Given the description of an element on the screen output the (x, y) to click on. 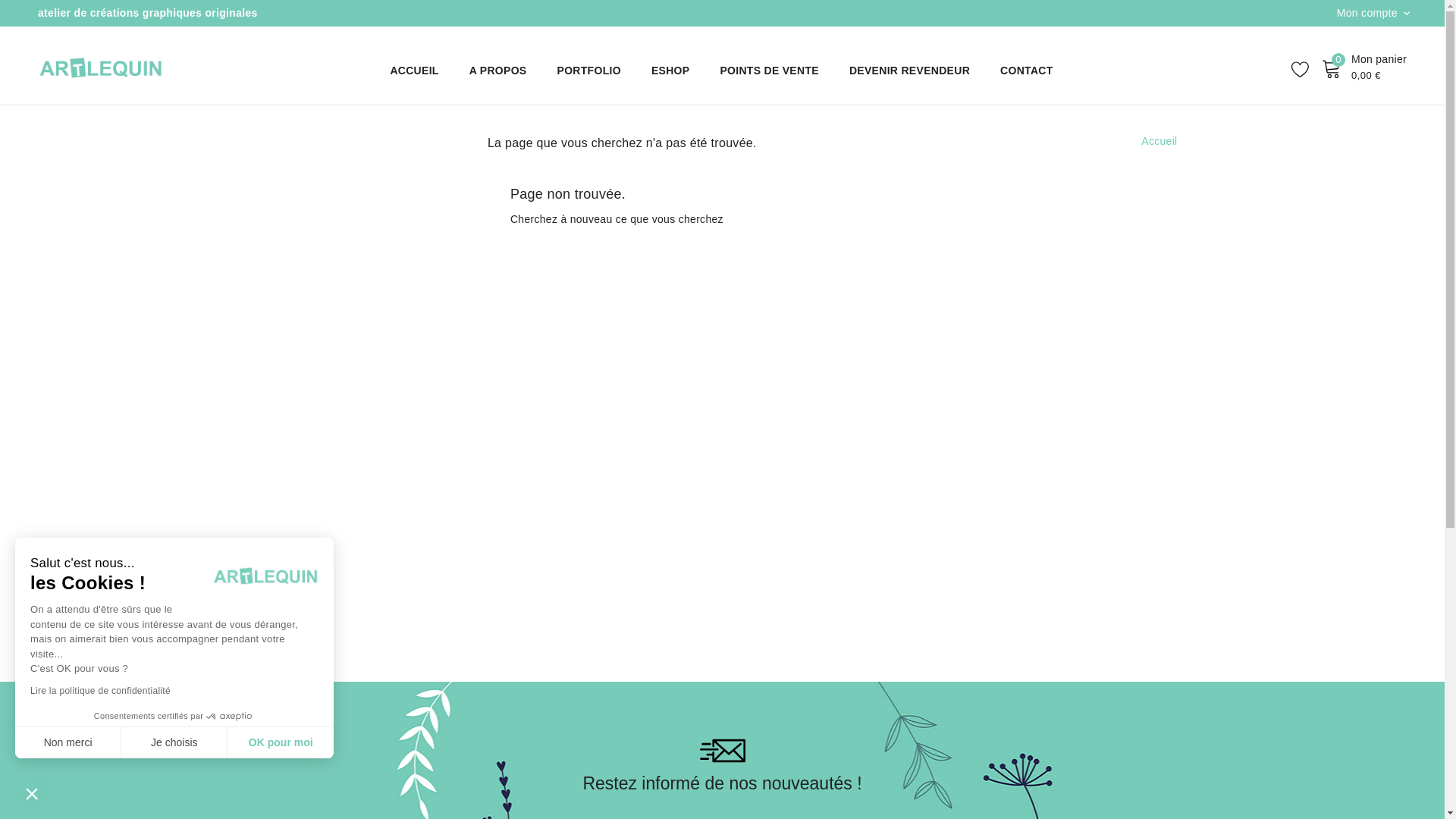
Wishlist Element type: text (1300, 68)
ESHOP Element type: text (670, 70)
A PROPOS Element type: text (498, 70)
Accueil Element type: text (1158, 140)
ACCUEIL Element type: text (413, 70)
Fermer le widget sans consentement Element type: hover (31, 793)
POINTS DE VENTE Element type: text (769, 70)
CONTACT Element type: text (1026, 70)
0 Element type: text (1331, 67)
PORTFOLIO Element type: text (588, 70)
DEVENIR REVENDEUR Element type: text (909, 70)
